Given the description of an element on the screen output the (x, y) to click on. 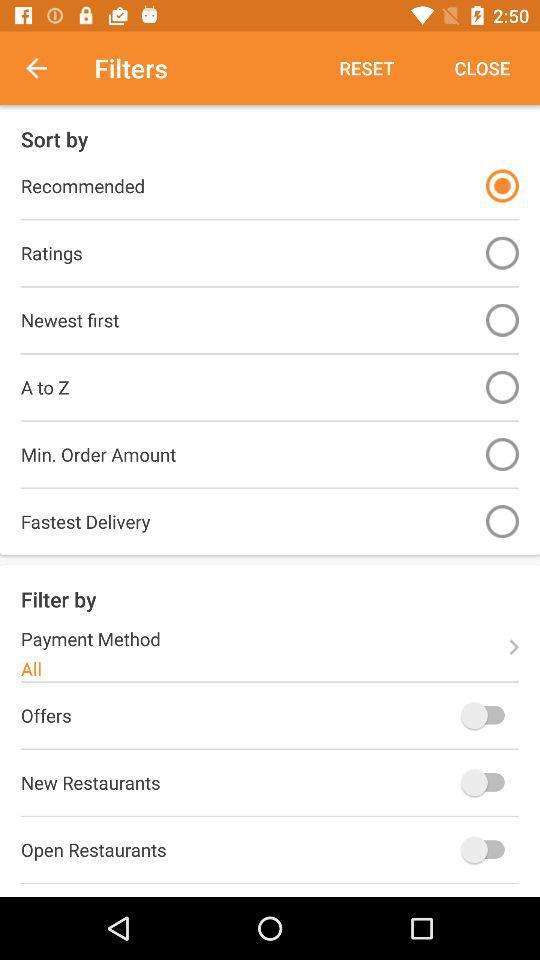
toggle new restaurants on (487, 782)
